Given the description of an element on the screen output the (x, y) to click on. 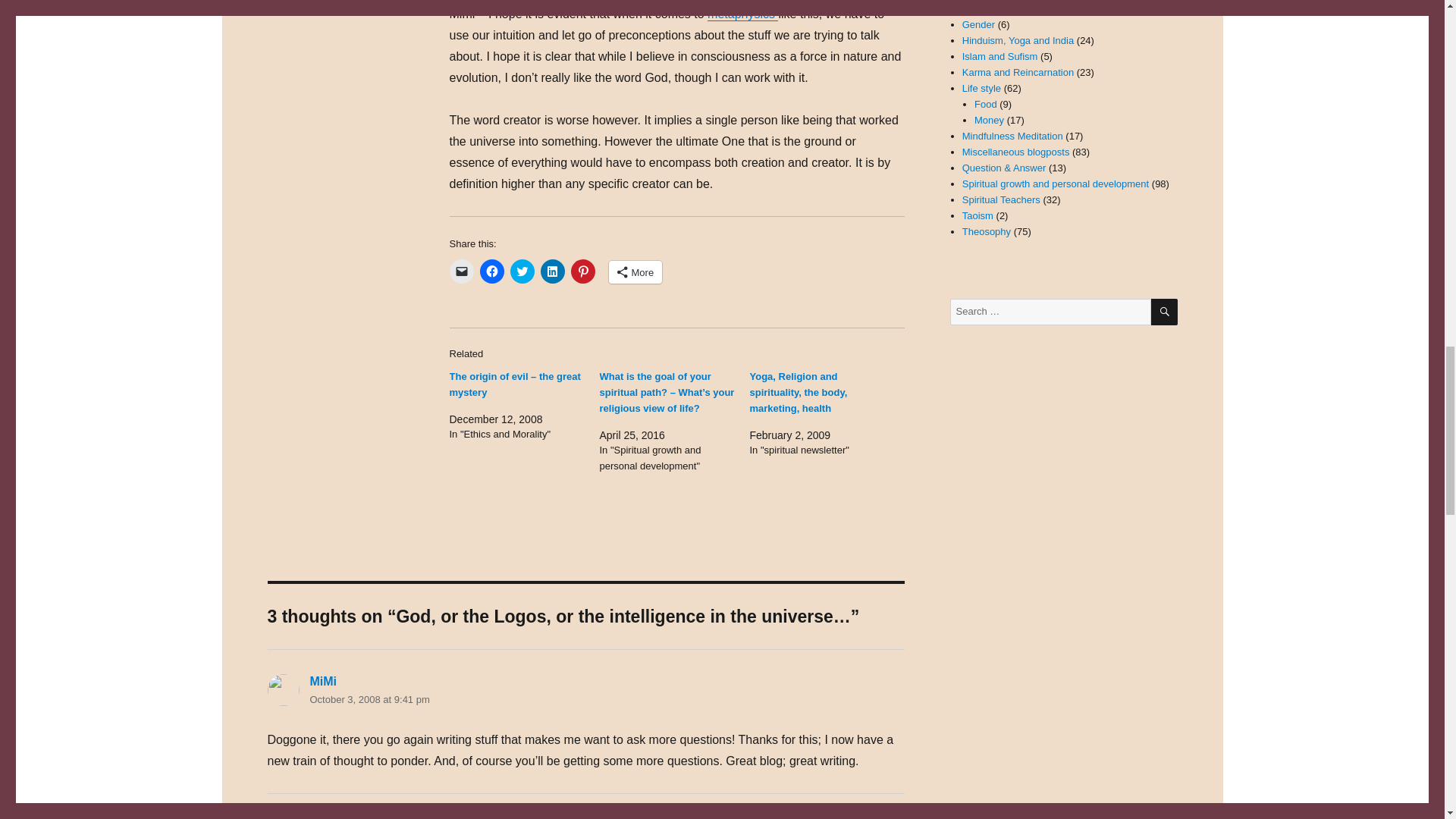
Click to share on Facebook (491, 271)
Click to share on LinkedIn (552, 271)
MiMi (322, 680)
Yoga, Religion and spirituality, the body, marketing, health (798, 392)
metaphysics (742, 13)
Yoga, Religion and spirituality, the body, marketing, health (798, 392)
More (635, 272)
Click to share on Pinterest (582, 271)
Click to share on Twitter (521, 271)
October 3, 2008 at 9:41 pm (368, 699)
